Given the description of an element on the screen output the (x, y) to click on. 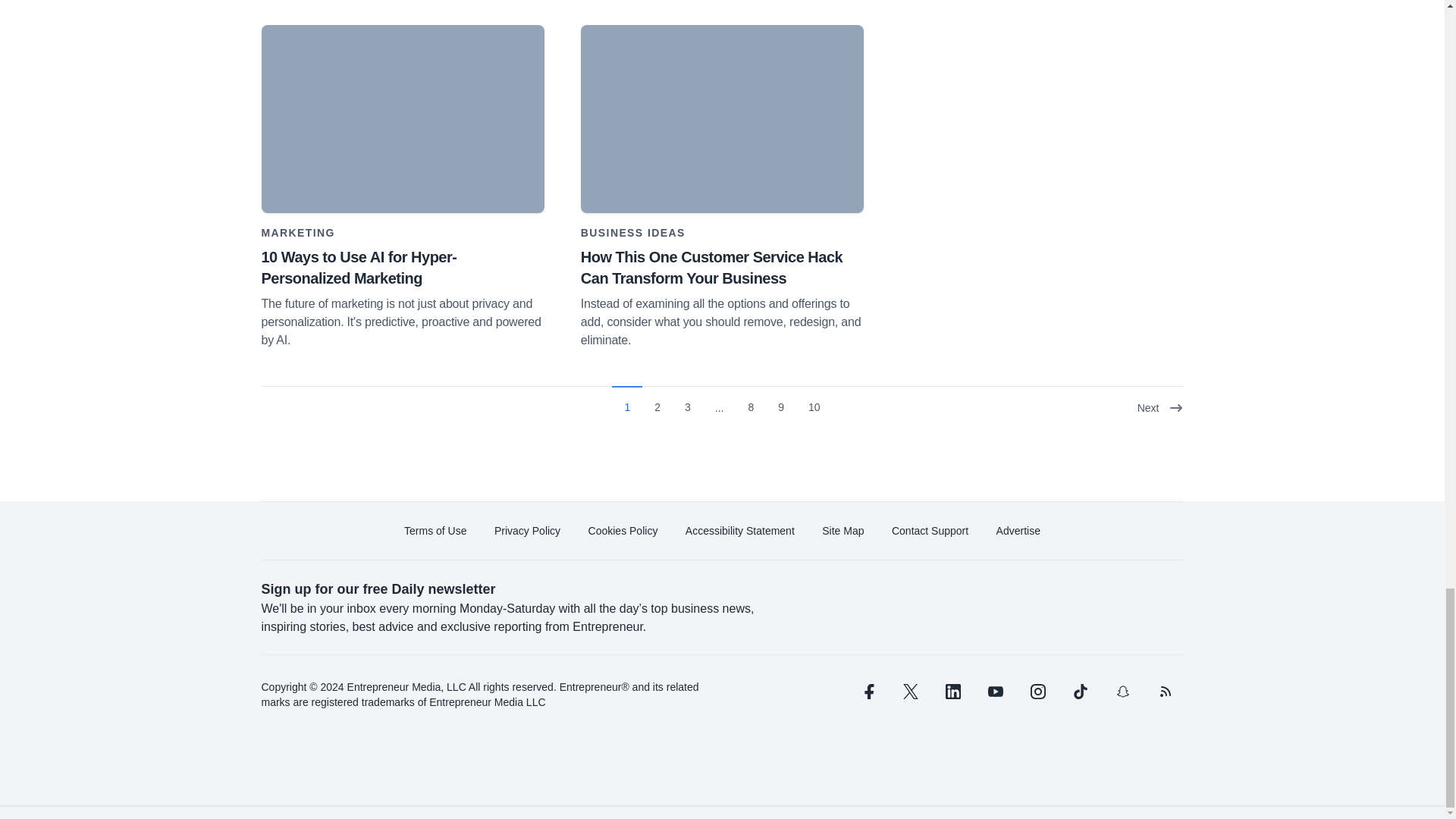
snapchat (1121, 691)
tiktok (1079, 691)
rss (1164, 691)
twitter (909, 691)
linkedin (952, 691)
instagram (1037, 691)
facebook (866, 691)
youtube (994, 691)
